Given the description of an element on the screen output the (x, y) to click on. 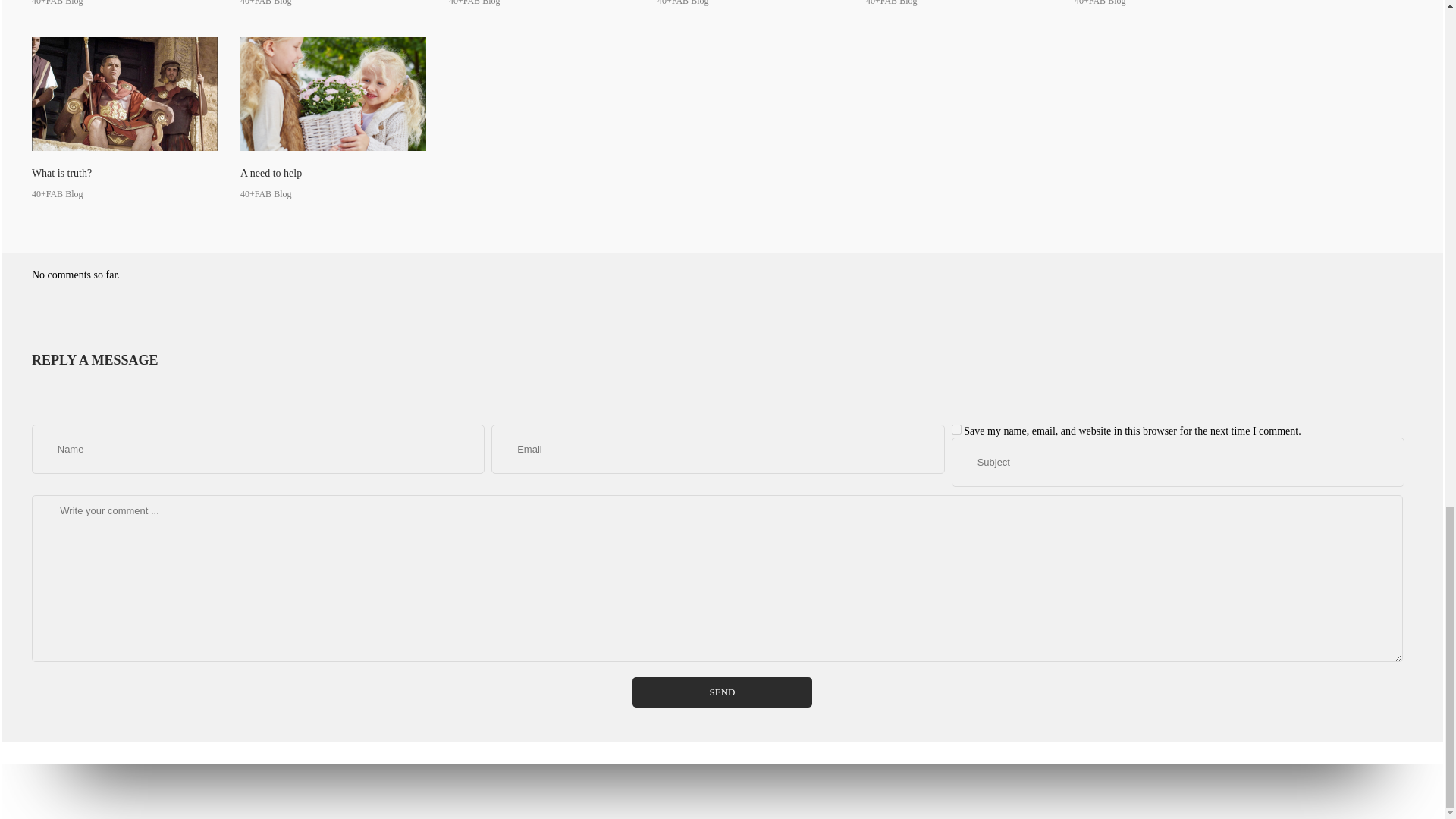
SEND (721, 692)
What is truth? (124, 118)
yes (956, 429)
Rearranging (541, 3)
Translation of values (958, 3)
Write program and run (124, 3)
A need to help (333, 118)
Help you to help me (750, 3)
Find the balance (333, 3)
